Given the description of an element on the screen output the (x, y) to click on. 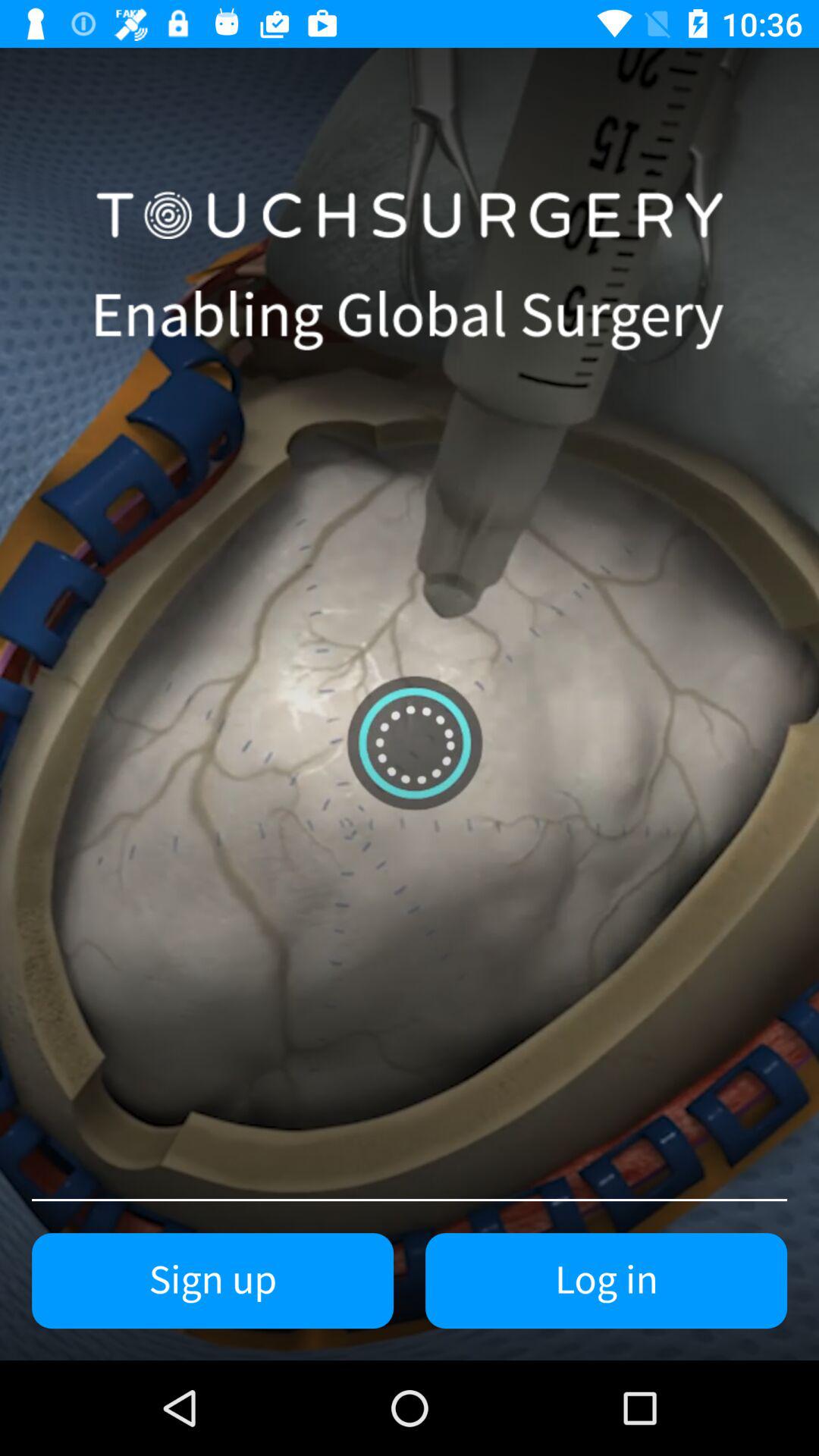
launch the item next to sign up icon (606, 1280)
